Given the description of an element on the screen output the (x, y) to click on. 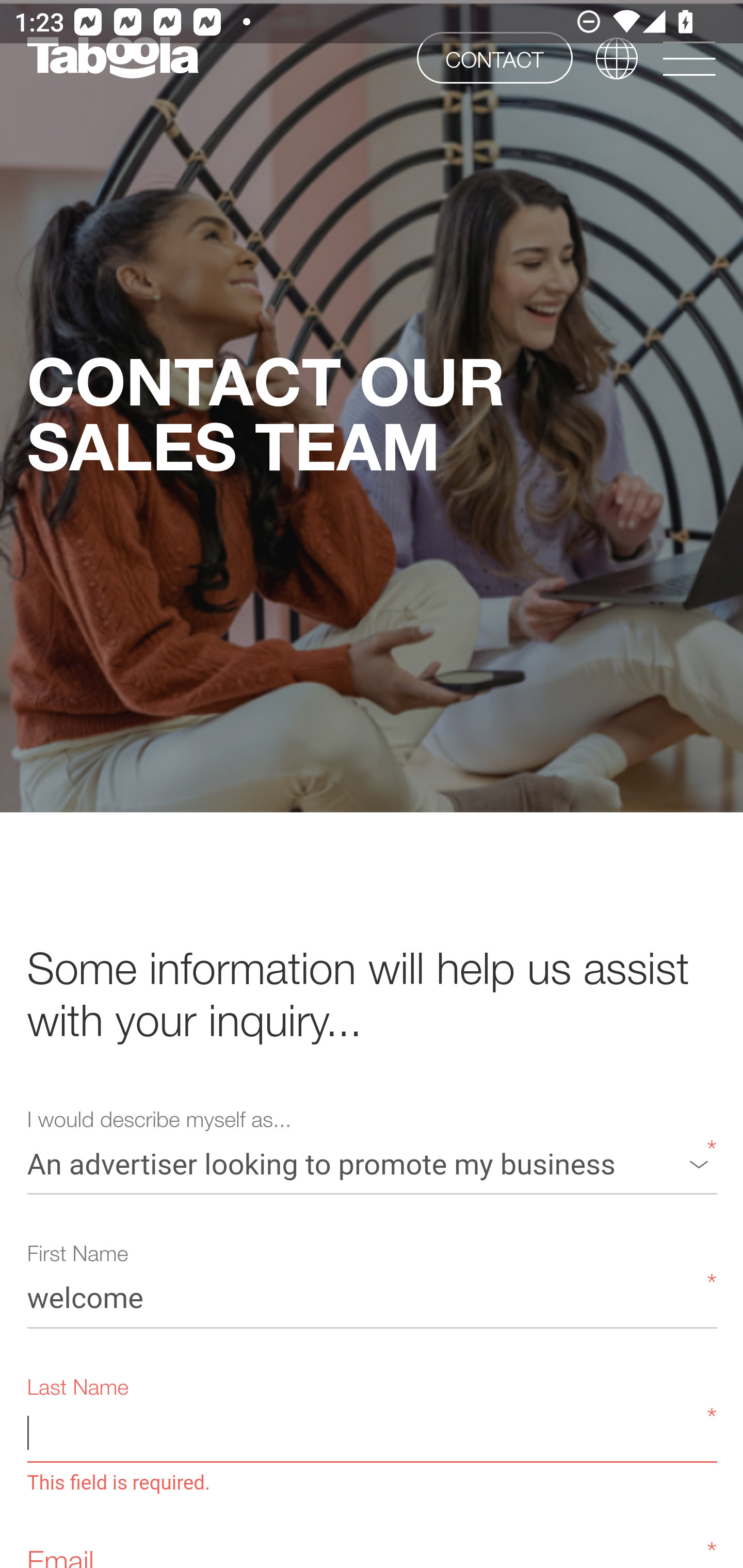
CONTACT (494, 56)
www.taboola (112, 57)
An advertiser looking to promote my business (371, 1163)
welcome (371, 1297)
